Given the description of an element on the screen output the (x, y) to click on. 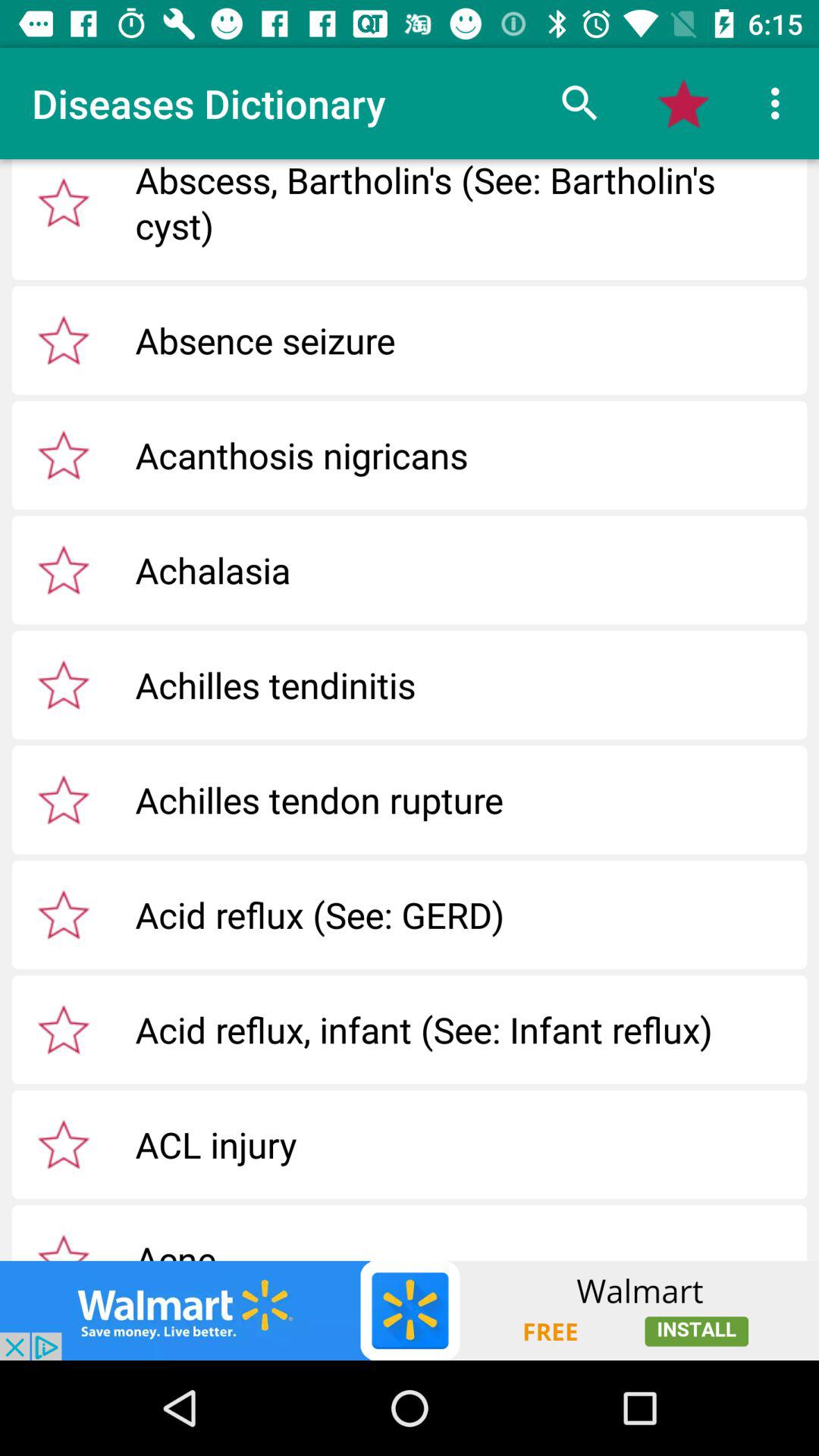
add star (63, 1144)
